Given the description of an element on the screen output the (x, y) to click on. 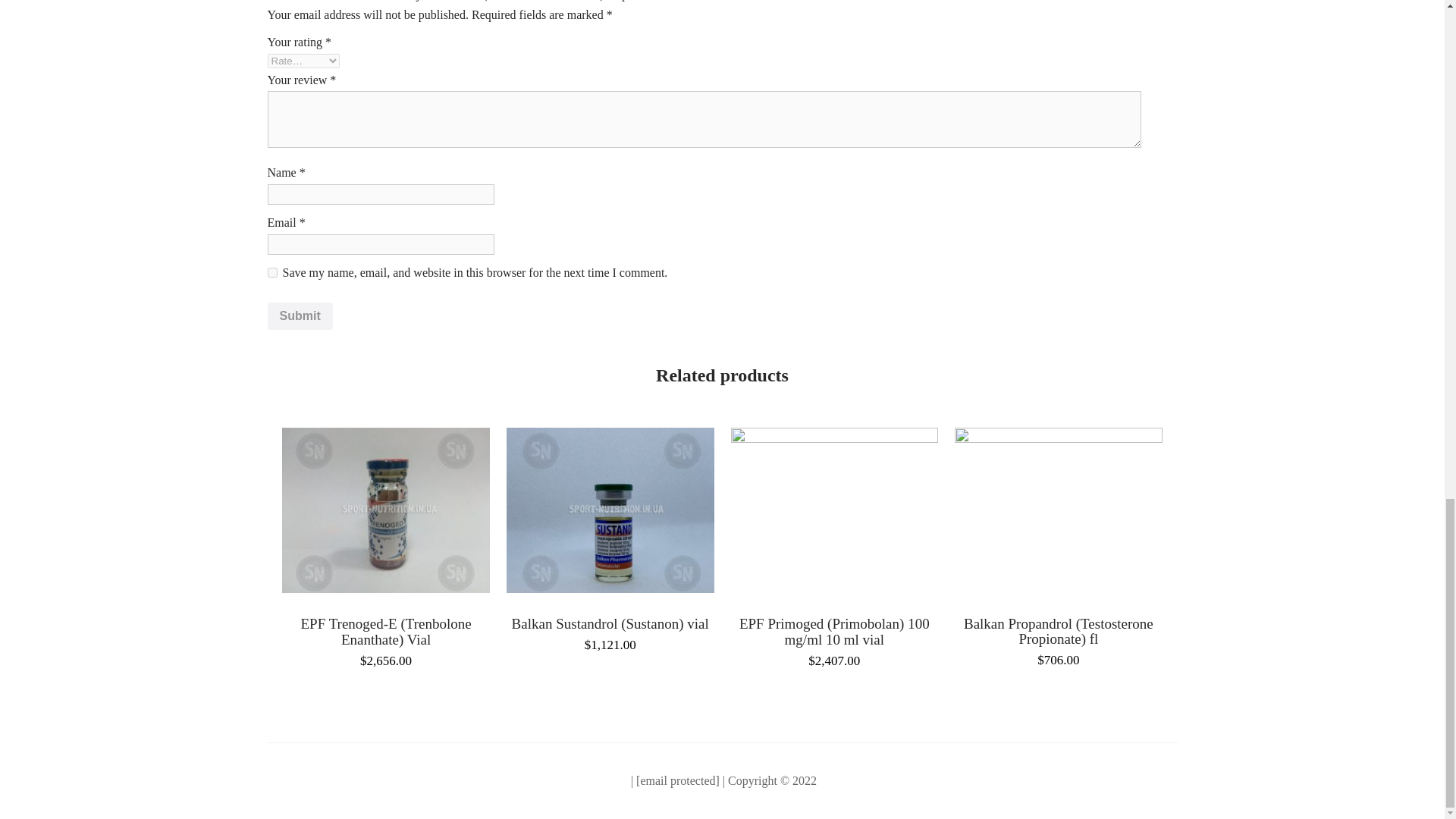
yes (271, 272)
Submit (298, 316)
Submit (298, 316)
